Given the description of an element on the screen output the (x, y) to click on. 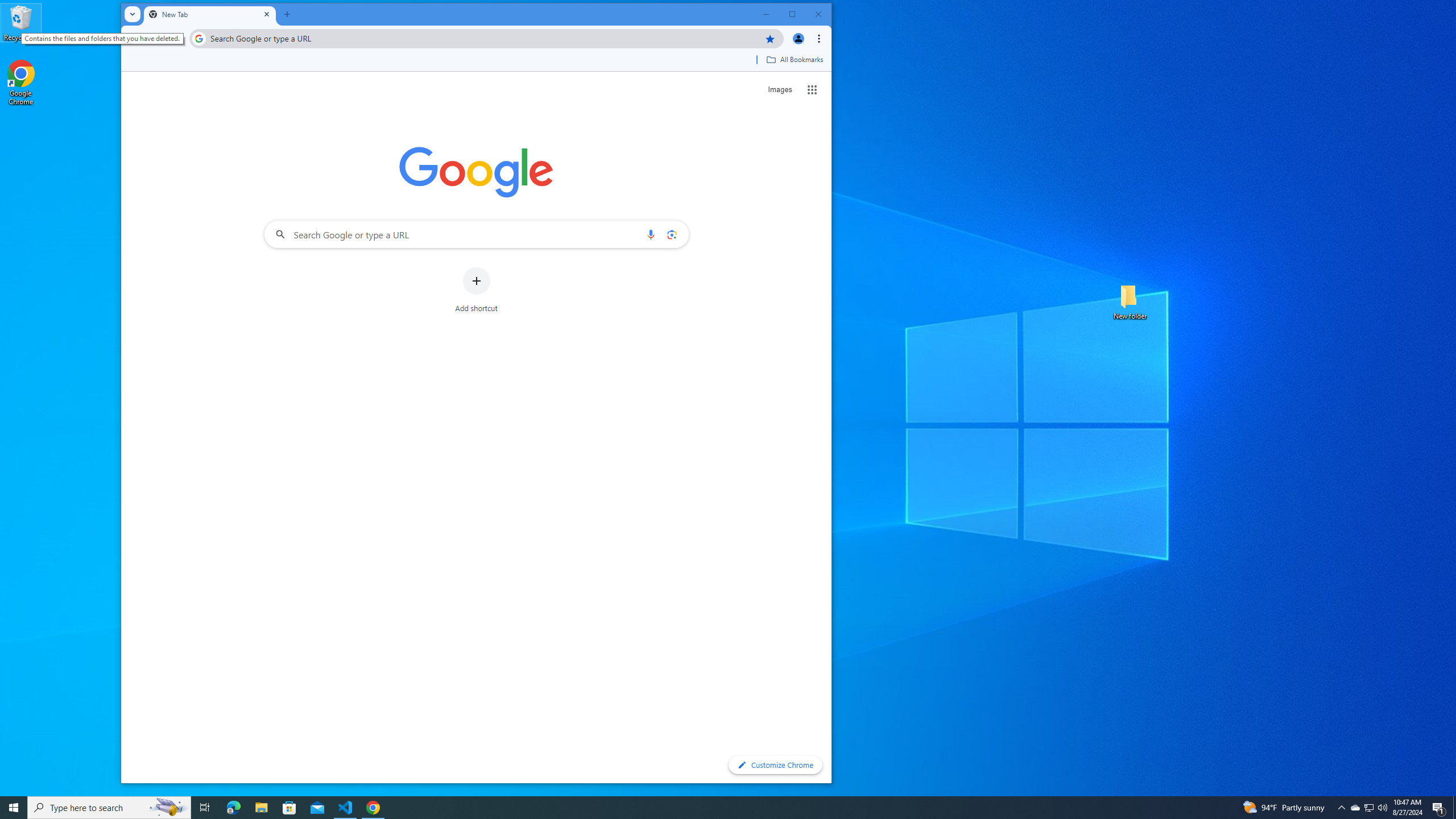
Google Chrome (21, 82)
Recycle Bin (21, 22)
New folder (1130, 301)
